Given the description of an element on the screen output the (x, y) to click on. 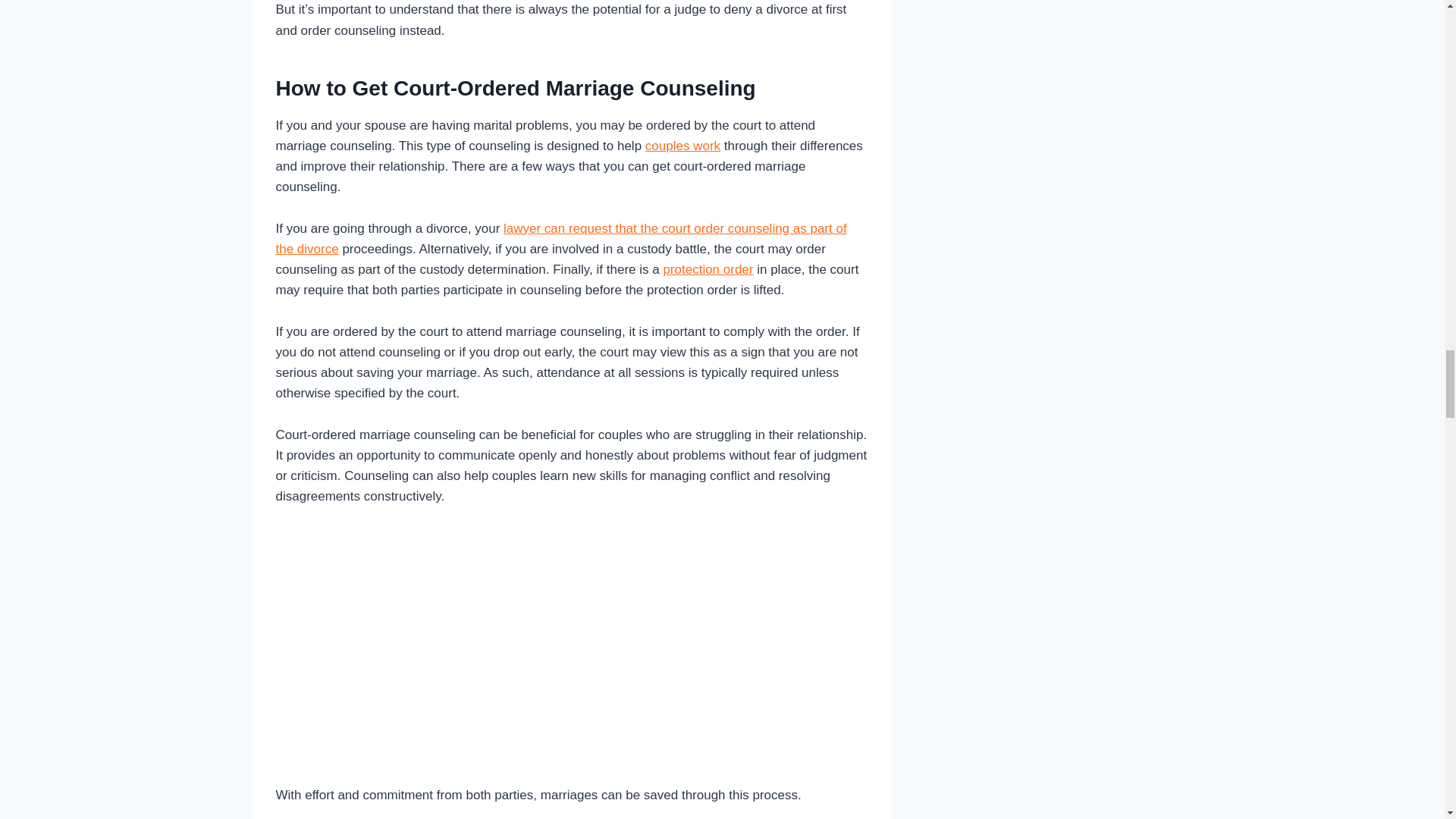
couples work (682, 145)
protection order (707, 269)
